Given the description of an element on the screen output the (x, y) to click on. 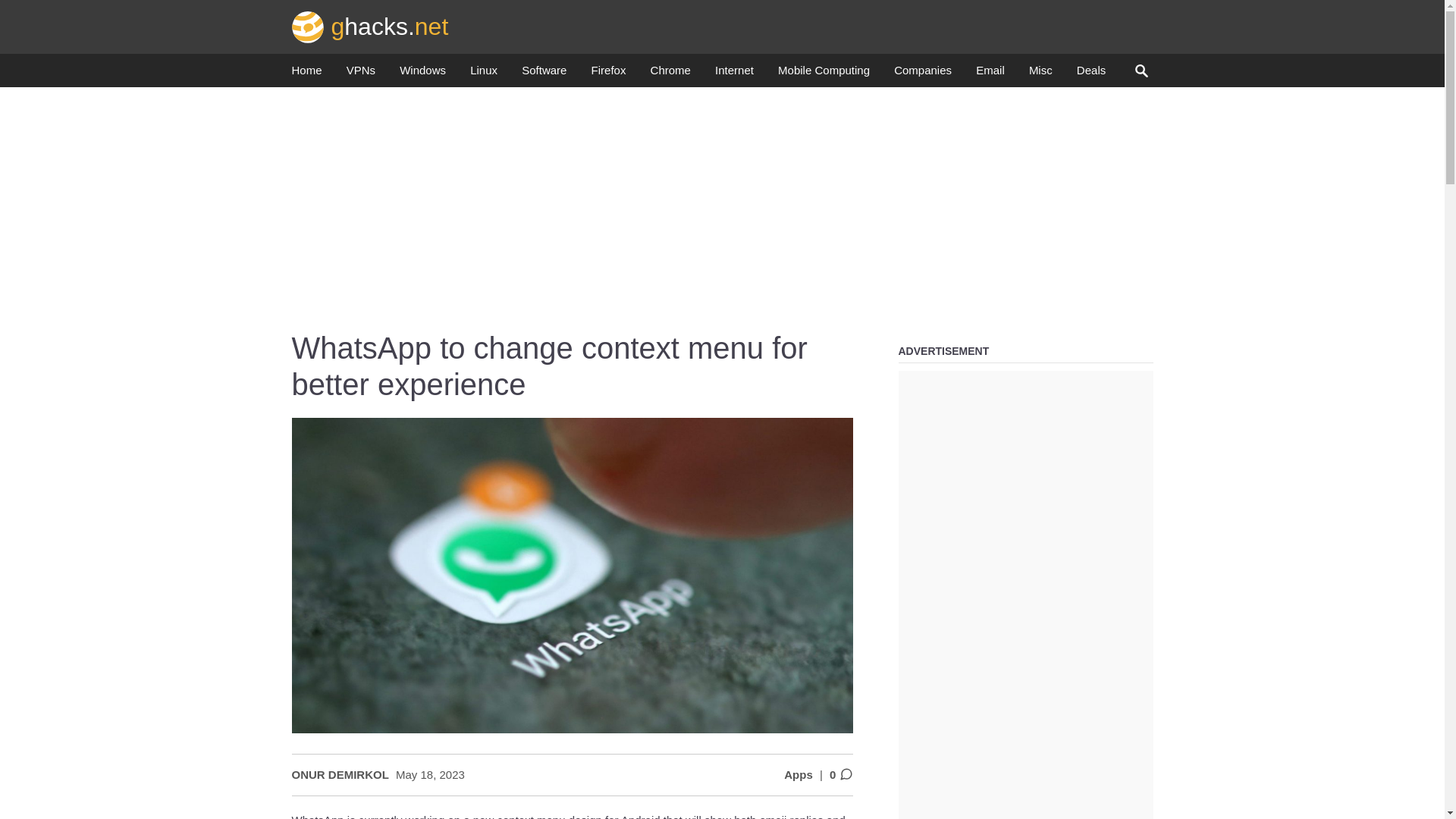
Misc (1040, 73)
Email (989, 73)
Internet (734, 73)
VPNs (360, 73)
Chrome (670, 73)
ghacks.net (369, 26)
Software (543, 73)
Firefox (608, 73)
Linux (483, 73)
Home (306, 73)
